Given the description of an element on the screen output the (x, y) to click on. 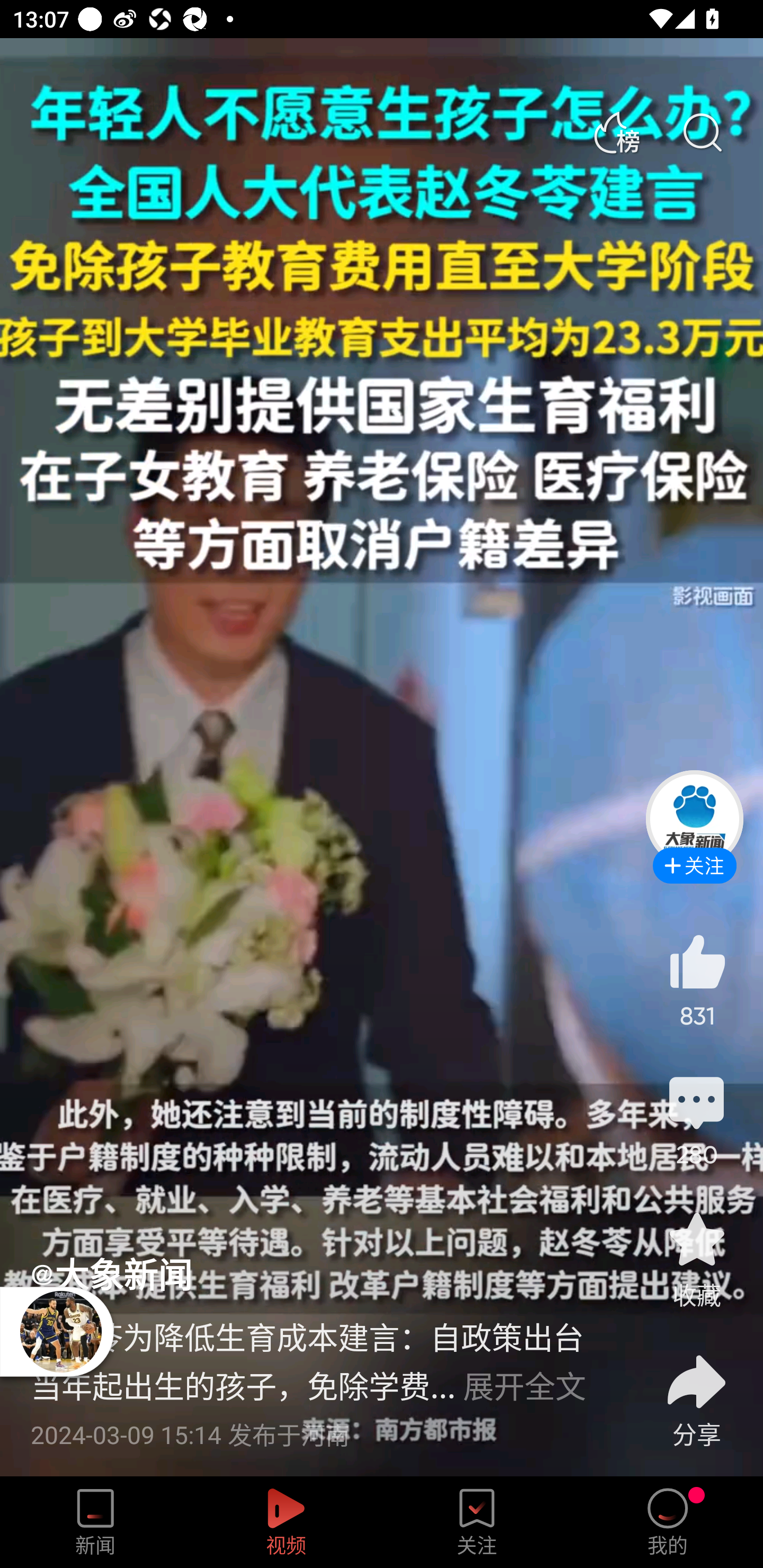
 热榜 (616, 133)
 搜索 (701, 133)
赞 831 (696, 979)
评论  280 (696, 1118)
收藏 (696, 1258)
大象新闻 (111, 1273)
播放器 (60, 1331)
分享  分享 (696, 1389)
